Given the description of an element on the screen output the (x, y) to click on. 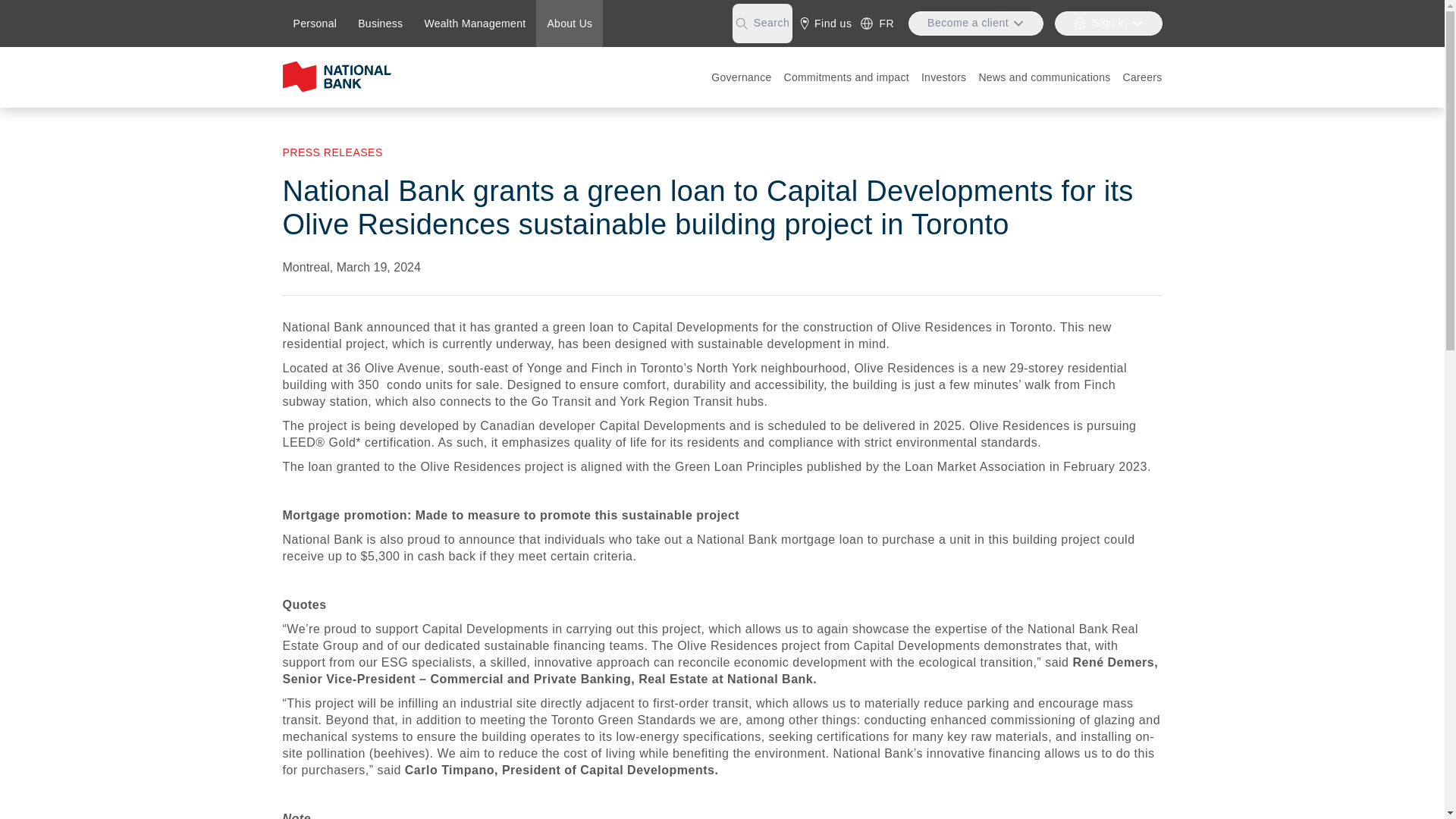
Commitments and impact (846, 77)
Careers (1142, 77)
News and communications (1044, 77)
FR (876, 23)
Personal (314, 23)
Sign in (1107, 23)
Governance (740, 77)
Find us (824, 23)
Become a client (975, 23)
